Given the description of an element on the screen output the (x, y) to click on. 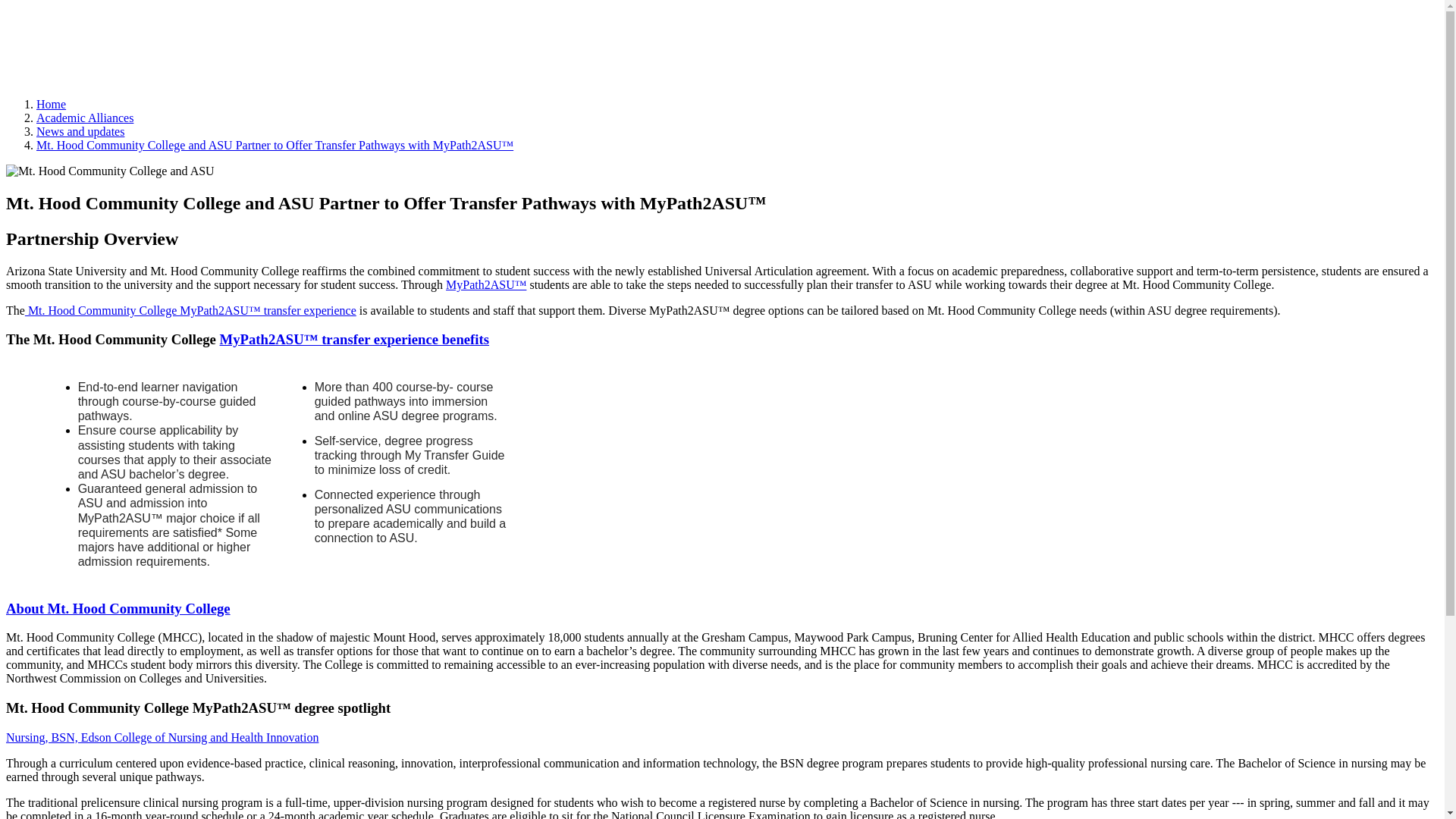
About Mt. Hood Community College (117, 608)
Nursing, BSN, Edson College of Nursing and Health Innovation (161, 737)
Academic Alliances (84, 117)
Home (50, 103)
News and updates (79, 131)
